Given the description of an element on the screen output the (x, y) to click on. 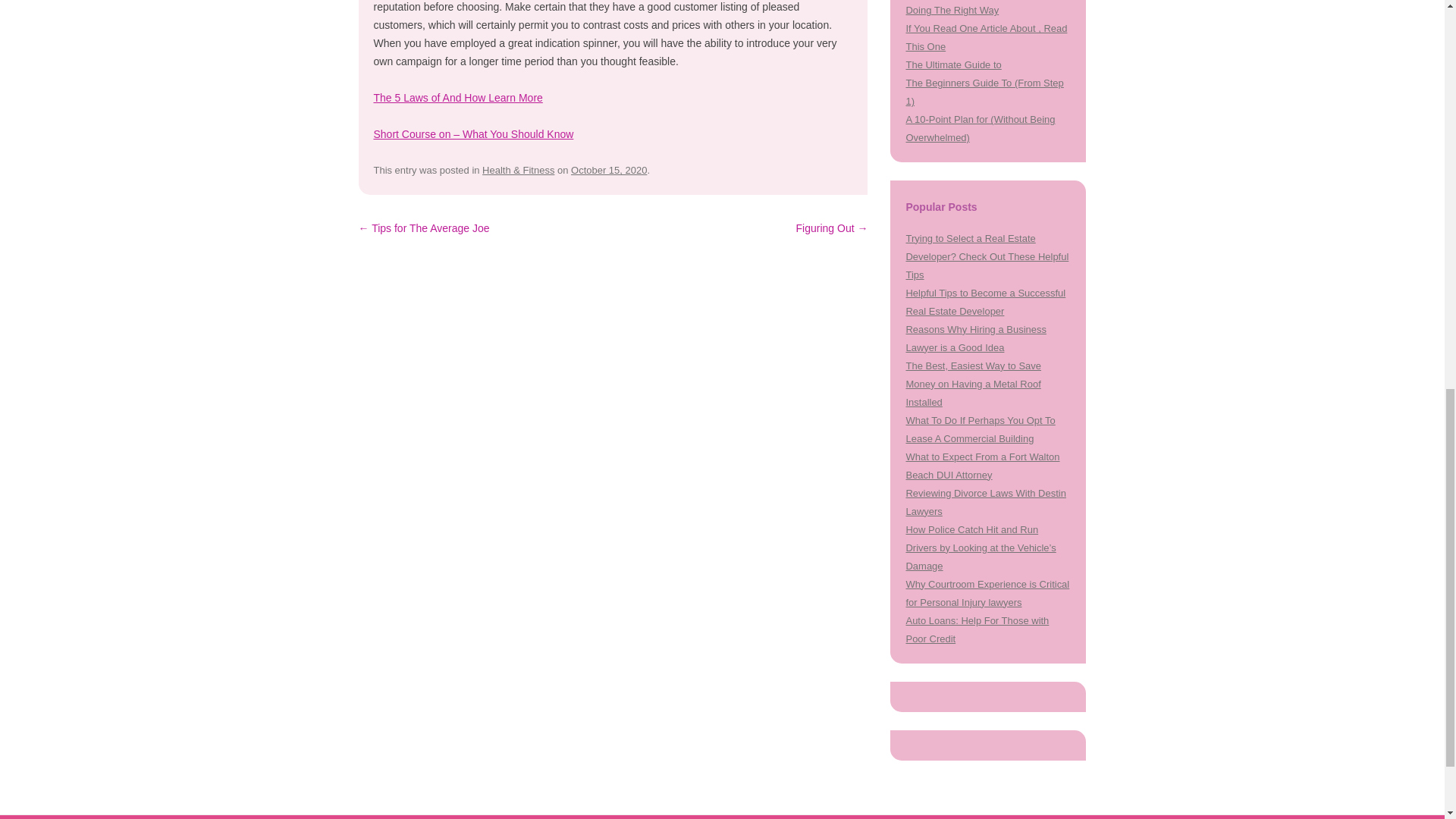
Reasons Why Hiring a Business Lawyer is a Good Idea (975, 337)
If You Read One Article About , Read This One (986, 37)
The 5 Laws of And How Learn More (456, 97)
What to Expect From a Fort Walton Beach DUI Attorney (982, 465)
Reviewing Divorce Laws With Destin Lawyers (985, 501)
What To Do If Perhaps You Opt To Lease A Commercial Building (979, 429)
Helpful Tips to Become a Successful Real Estate Developer (985, 301)
Doing The Right Way (951, 9)
